Given the description of an element on the screen output the (x, y) to click on. 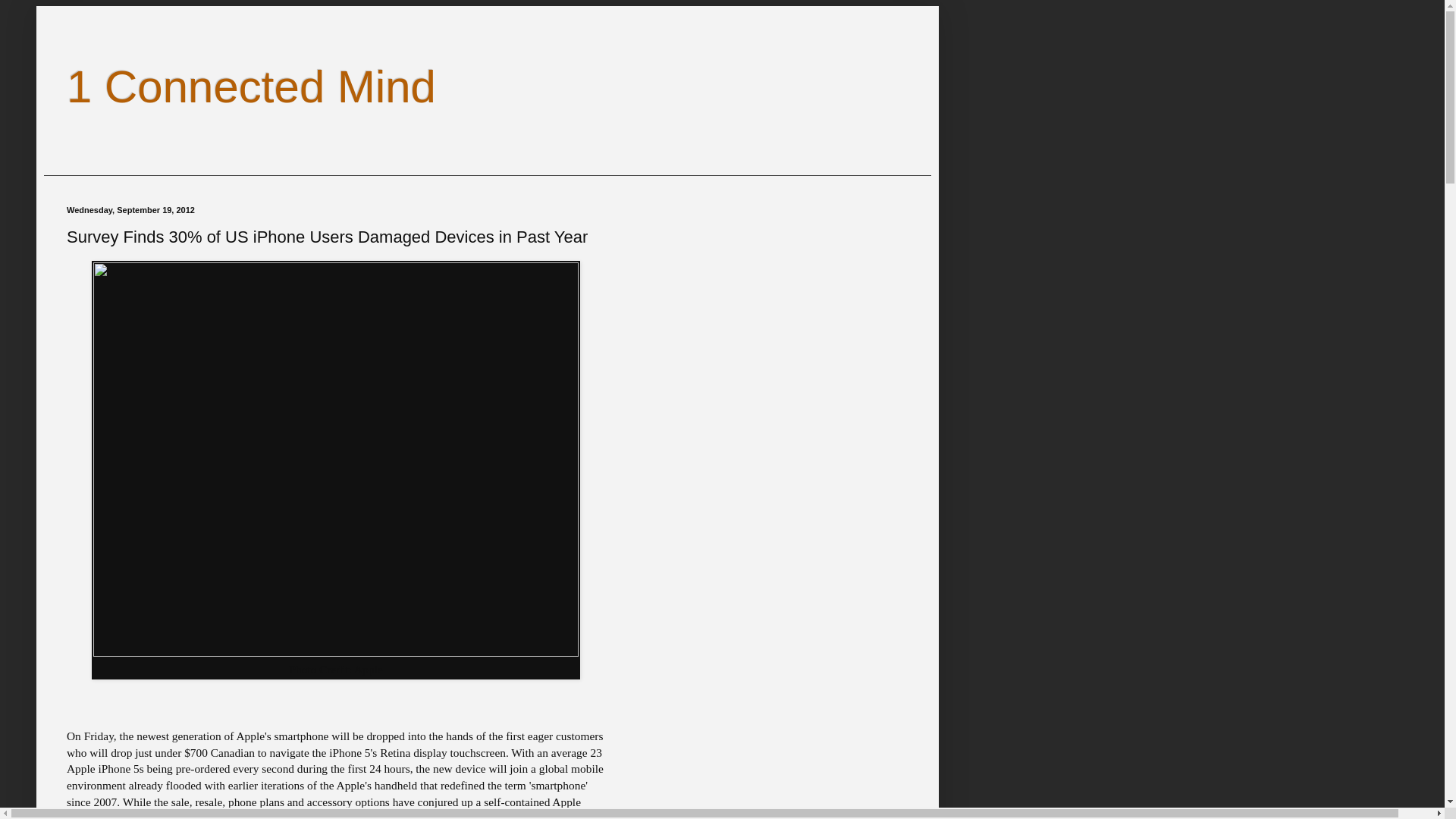
1 Connected Mind Element type: text (251, 86)
